Given the description of an element on the screen output the (x, y) to click on. 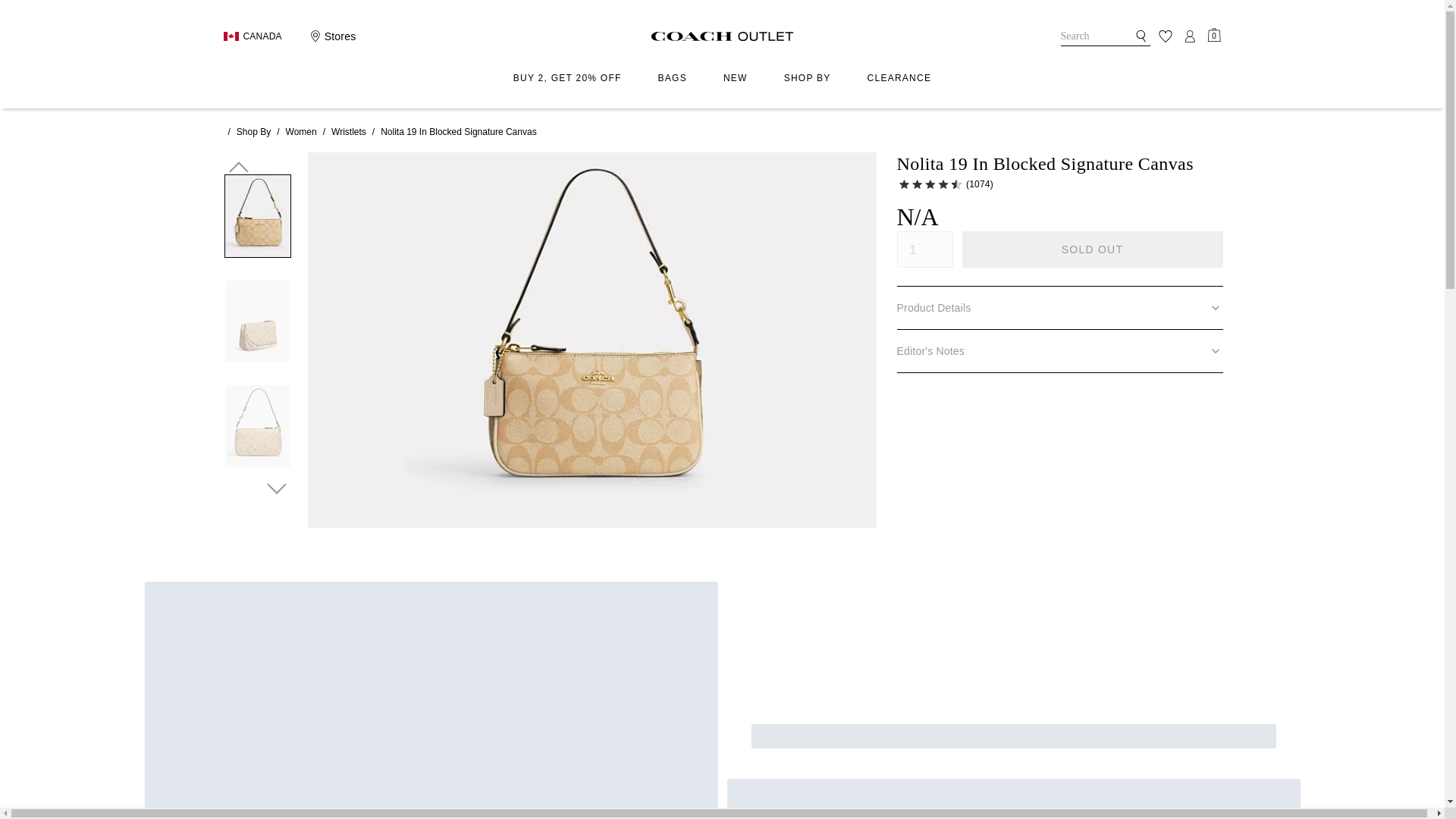
Wristlets (348, 131)
Shop By (807, 78)
SHOP BY (807, 78)
Shop By (252, 131)
0 (1213, 35)
Stores (330, 36)
Editor'S Notes (1059, 351)
SOLD OUT (1091, 248)
CLEARANCE (899, 78)
Clearance (899, 78)
Bags (672, 78)
New (735, 78)
Women (301, 131)
BAGS (672, 78)
Product Details (1059, 307)
